Given the description of an element on the screen output the (x, y) to click on. 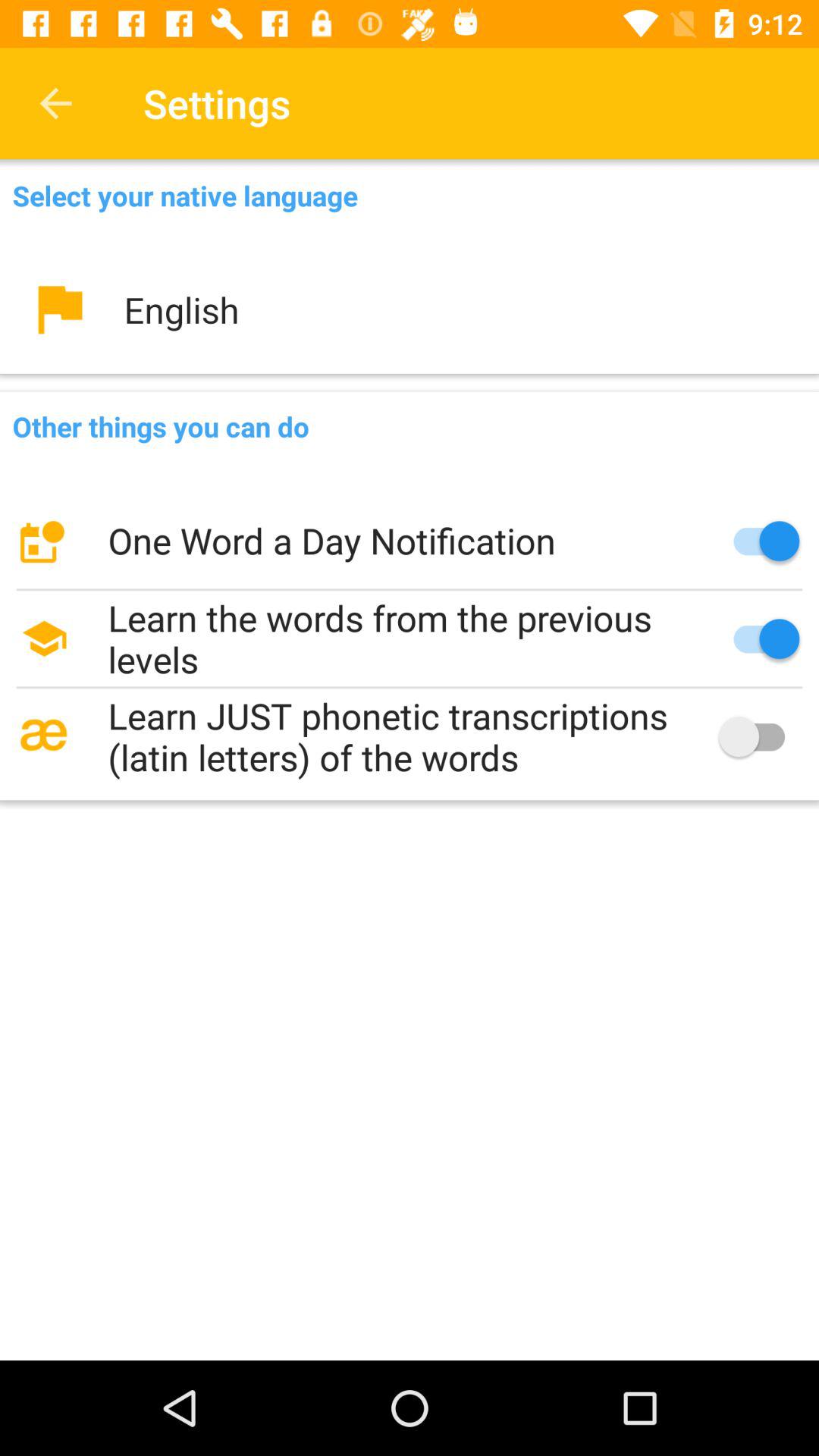
turn off item to the left of the settings item (55, 103)
